Given the description of an element on the screen output the (x, y) to click on. 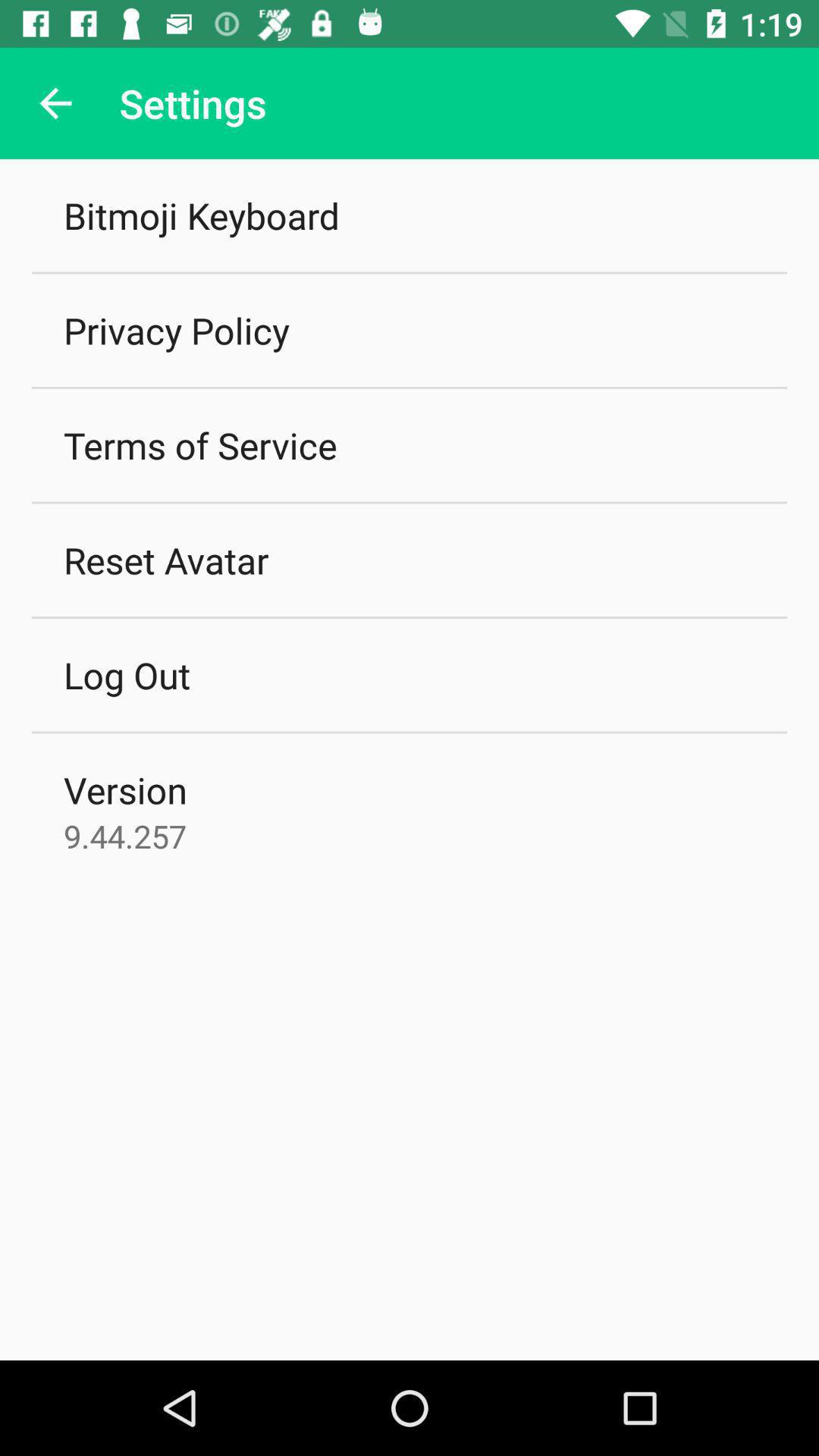
jump to bitmoji keyboard item (201, 215)
